Given the description of an element on the screen output the (x, y) to click on. 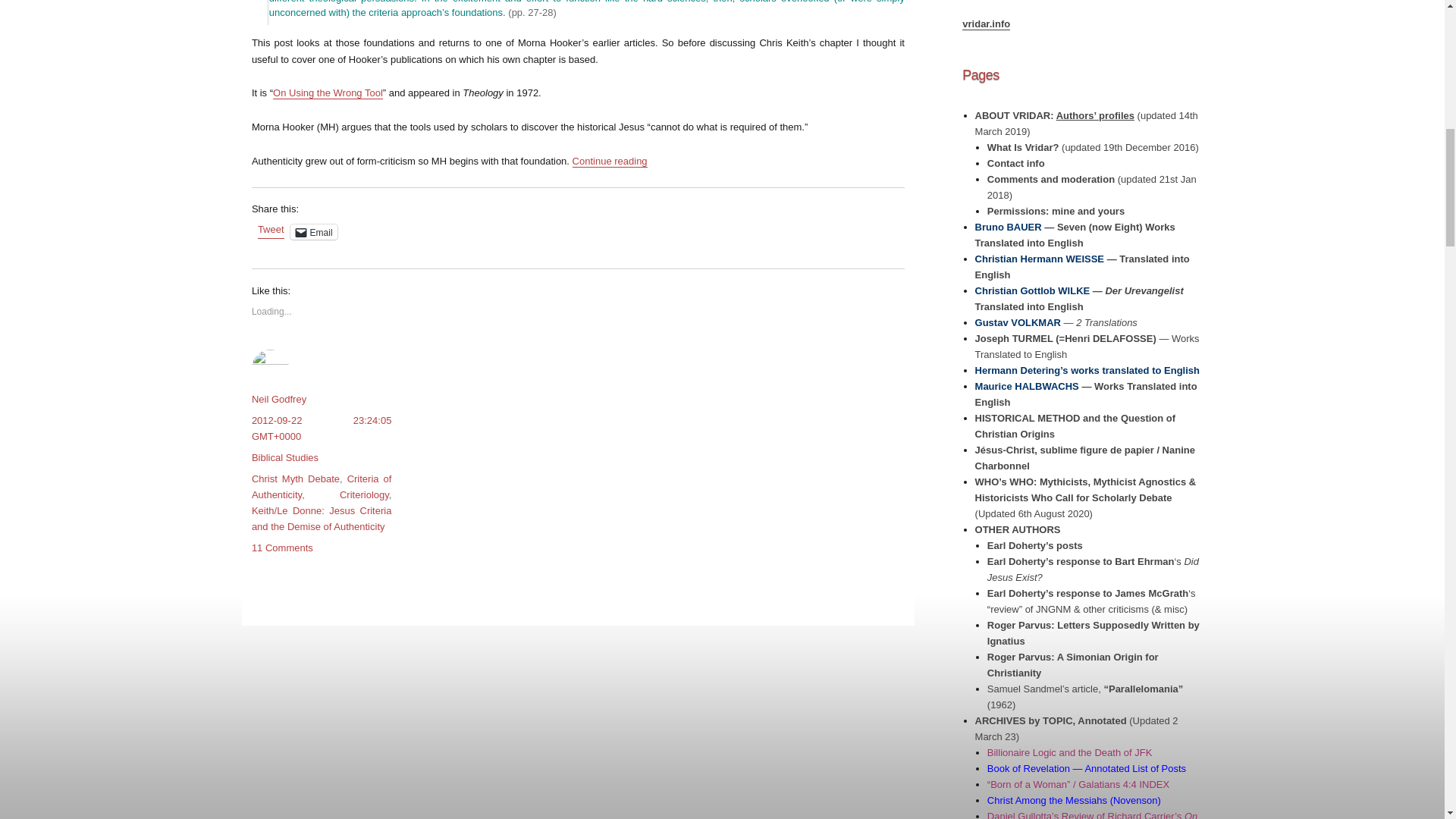
Tweet (270, 231)
Neil Godfrey (278, 398)
11 Comments (282, 547)
On Using the Wrong Tool (327, 92)
Christ Myth Debate (295, 478)
Continue reading (609, 161)
Email (313, 231)
Criteria of Authenticity (321, 486)
Criteriology (363, 494)
Biblical Studies (284, 457)
